Given the description of an element on the screen output the (x, y) to click on. 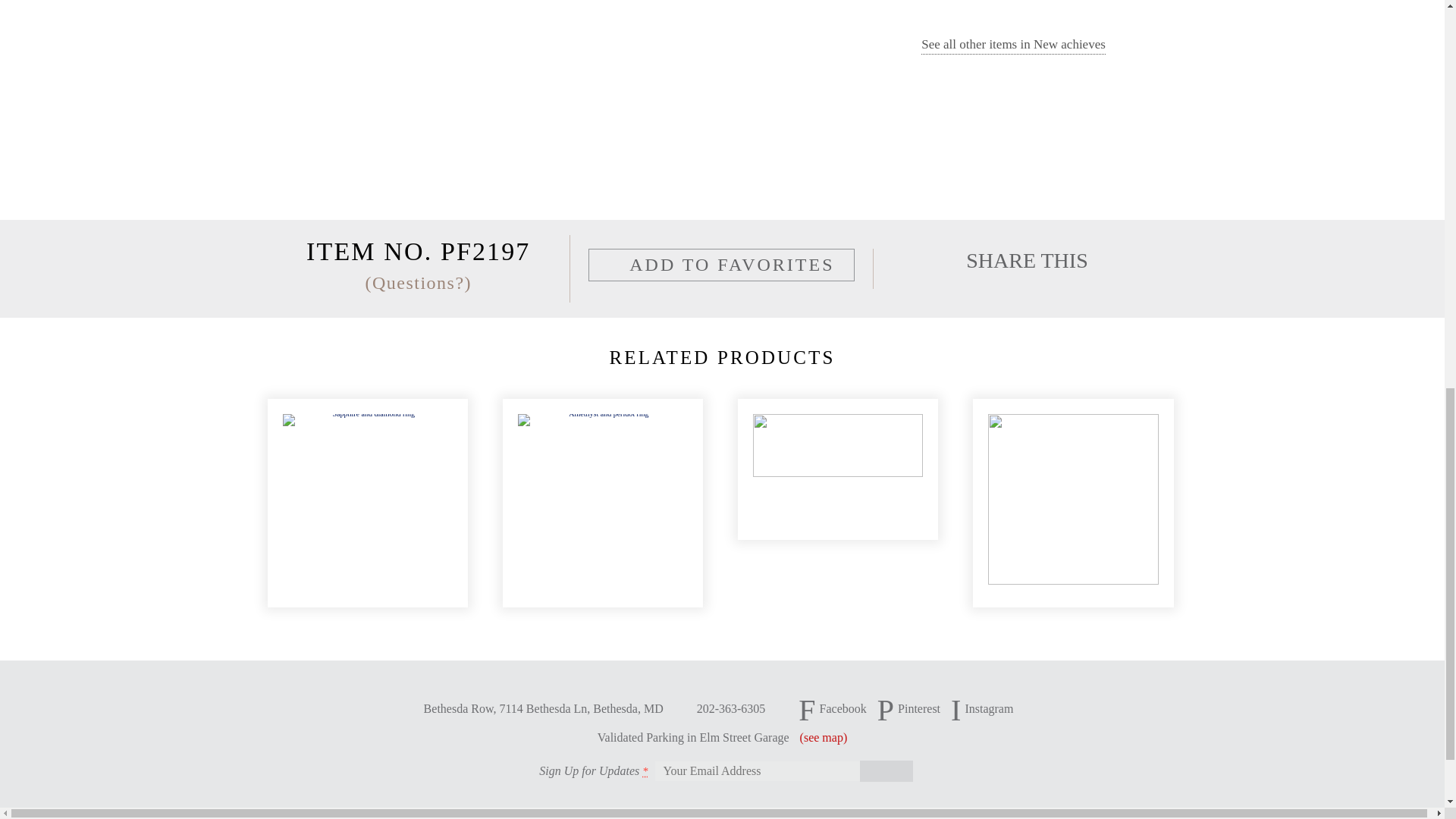
Sign up (886, 771)
See all other items in New achieves (1013, 45)
ADD TO FAVORITES (721, 264)
Add to favorites (721, 264)
